Given the description of an element on the screen output the (x, y) to click on. 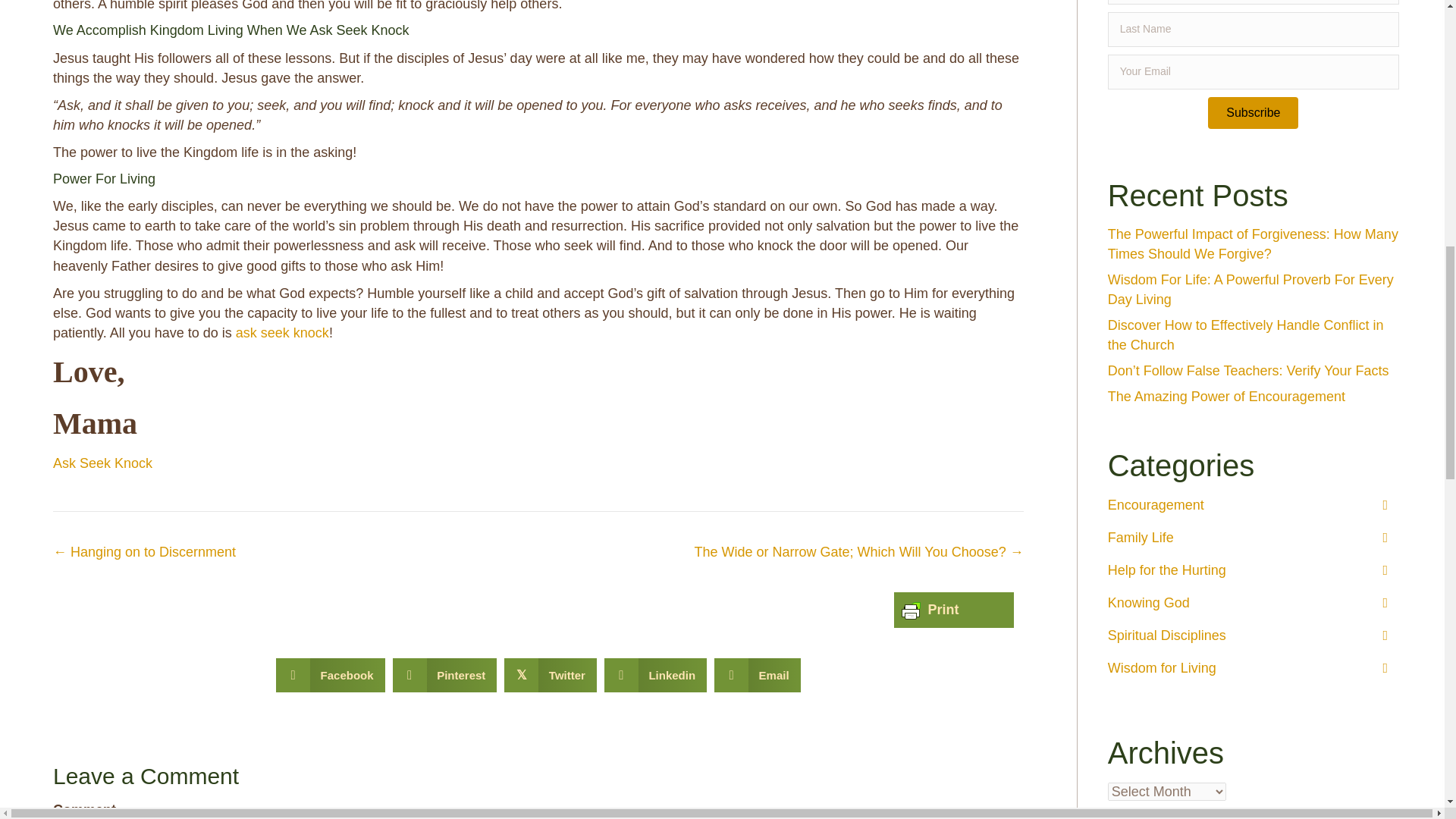
Facebook (330, 675)
ask seek knock (282, 332)
Subscribe (1253, 112)
Pinterest (445, 675)
Linkedin (655, 675)
Email (757, 675)
Ask Seek Knock (102, 462)
Click Here (1253, 112)
  Print (930, 609)
